Given the description of an element on the screen output the (x, y) to click on. 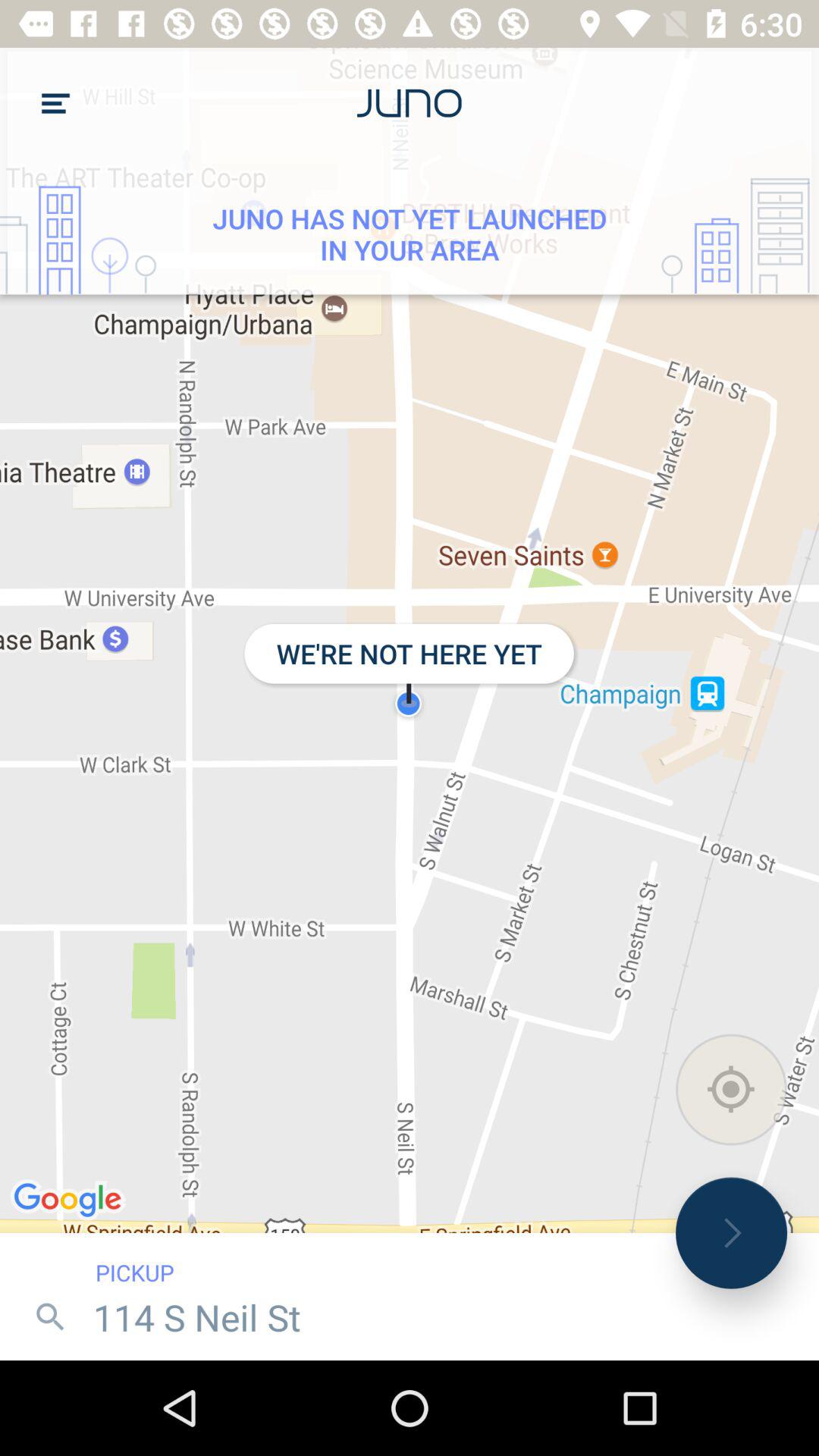
choose icon to the right of the pickup (731, 1232)
